Given the description of an element on the screen output the (x, y) to click on. 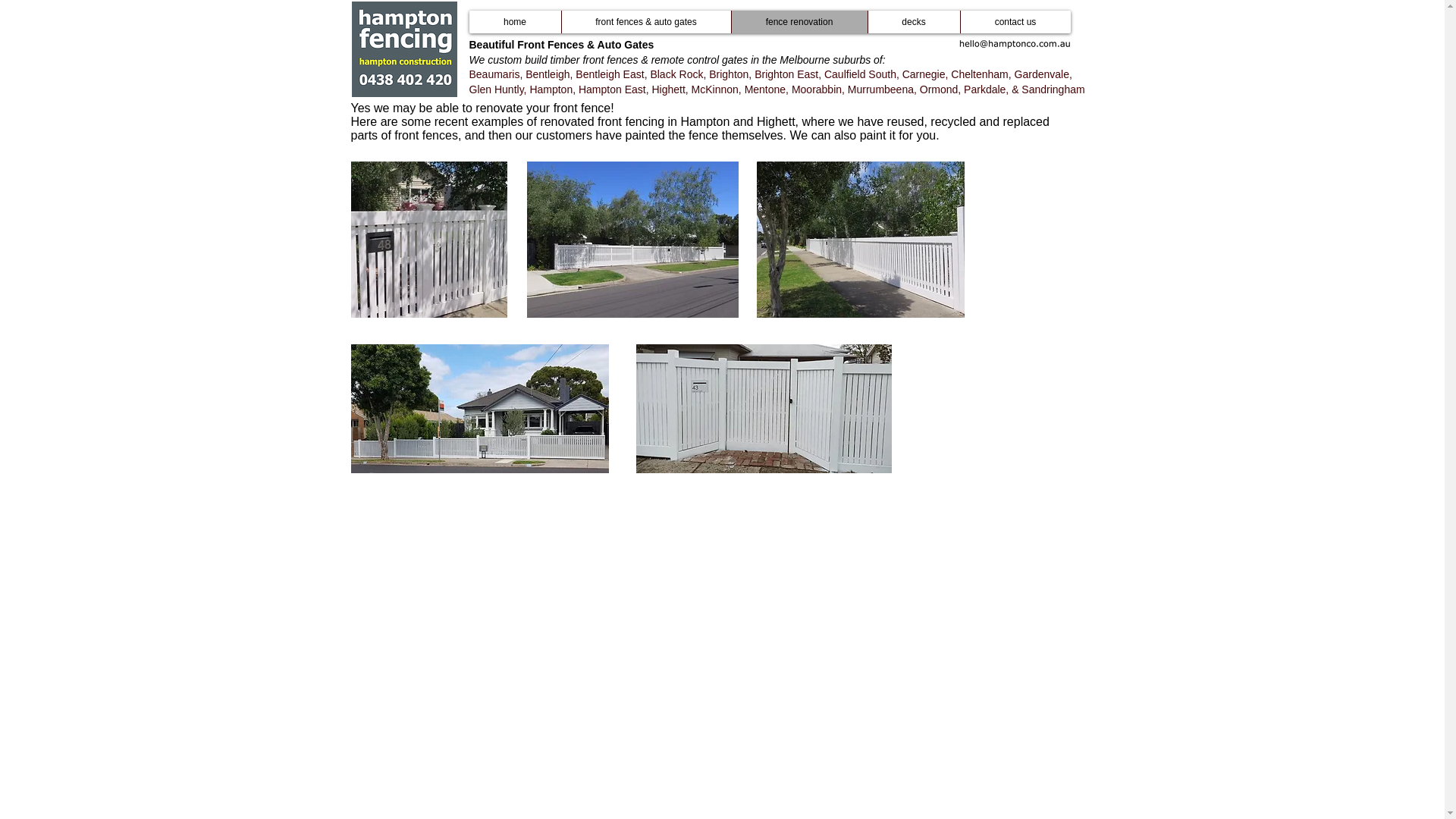
contact us Element type: text (1015, 21)
decks Element type: text (913, 21)
fence renovation Element type: text (799, 21)
40x40 logo 2020.png Element type: hover (404, 49)
david48 renovated hamptons style 2.jpg Element type: hover (860, 239)
david48 renovated hamptons style 3.jpg Element type: hover (631, 239)
Fewster%2010%20hampton%20Hampton%20Fenci Element type: hover (479, 408)
front fences & auto gates Element type: text (646, 21)
home Element type: text (514, 21)
